Given the description of an element on the screen output the (x, y) to click on. 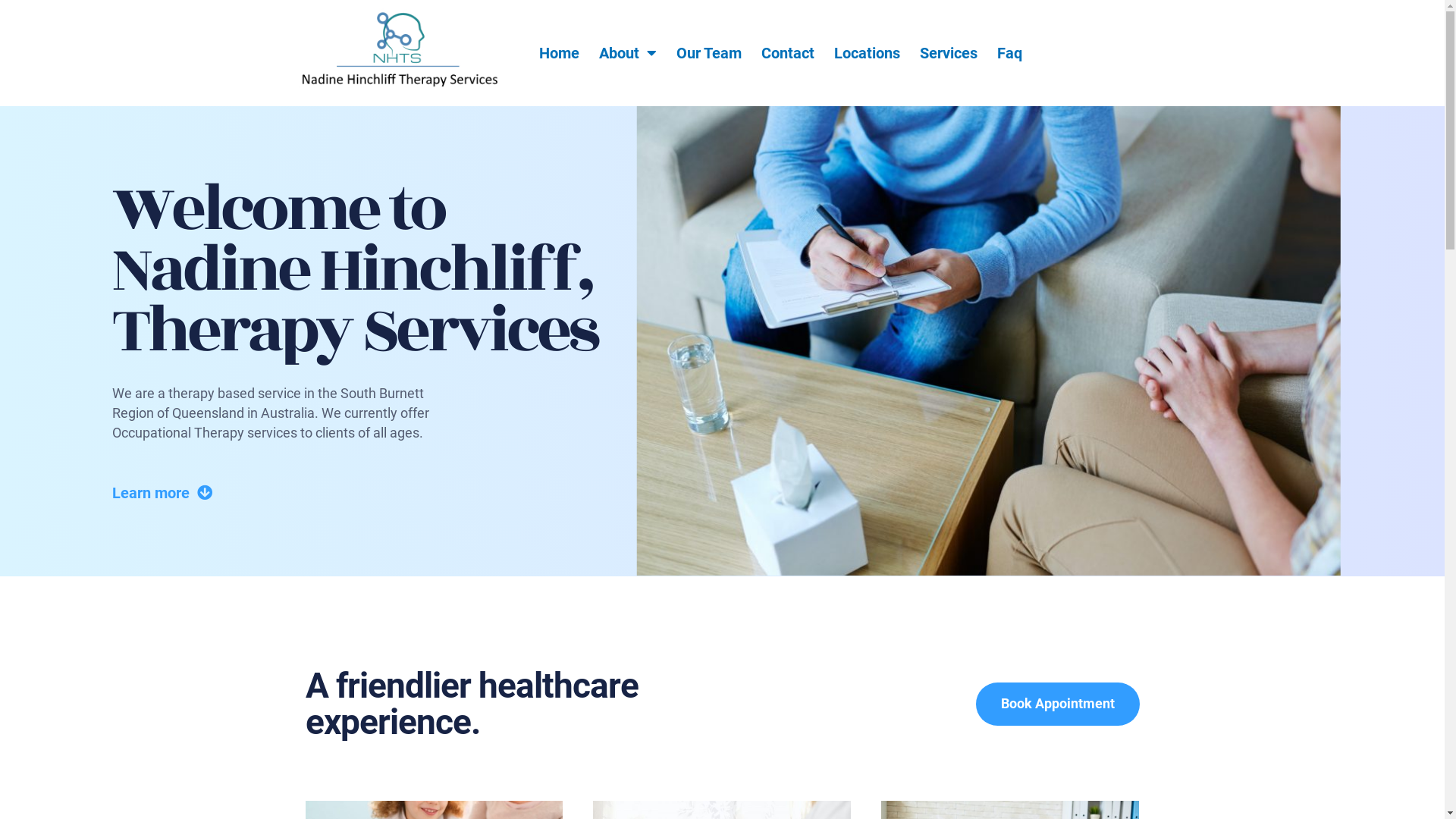
Services Element type: text (948, 52)
Locations Element type: text (867, 52)
Learn more Element type: text (162, 492)
Our Team Element type: text (708, 52)
Home Element type: text (559, 52)
Faq Element type: text (1009, 52)
About Element type: text (627, 52)
Contact Element type: text (787, 52)
Book Appointment Element type: text (1057, 703)
